Given the description of an element on the screen output the (x, y) to click on. 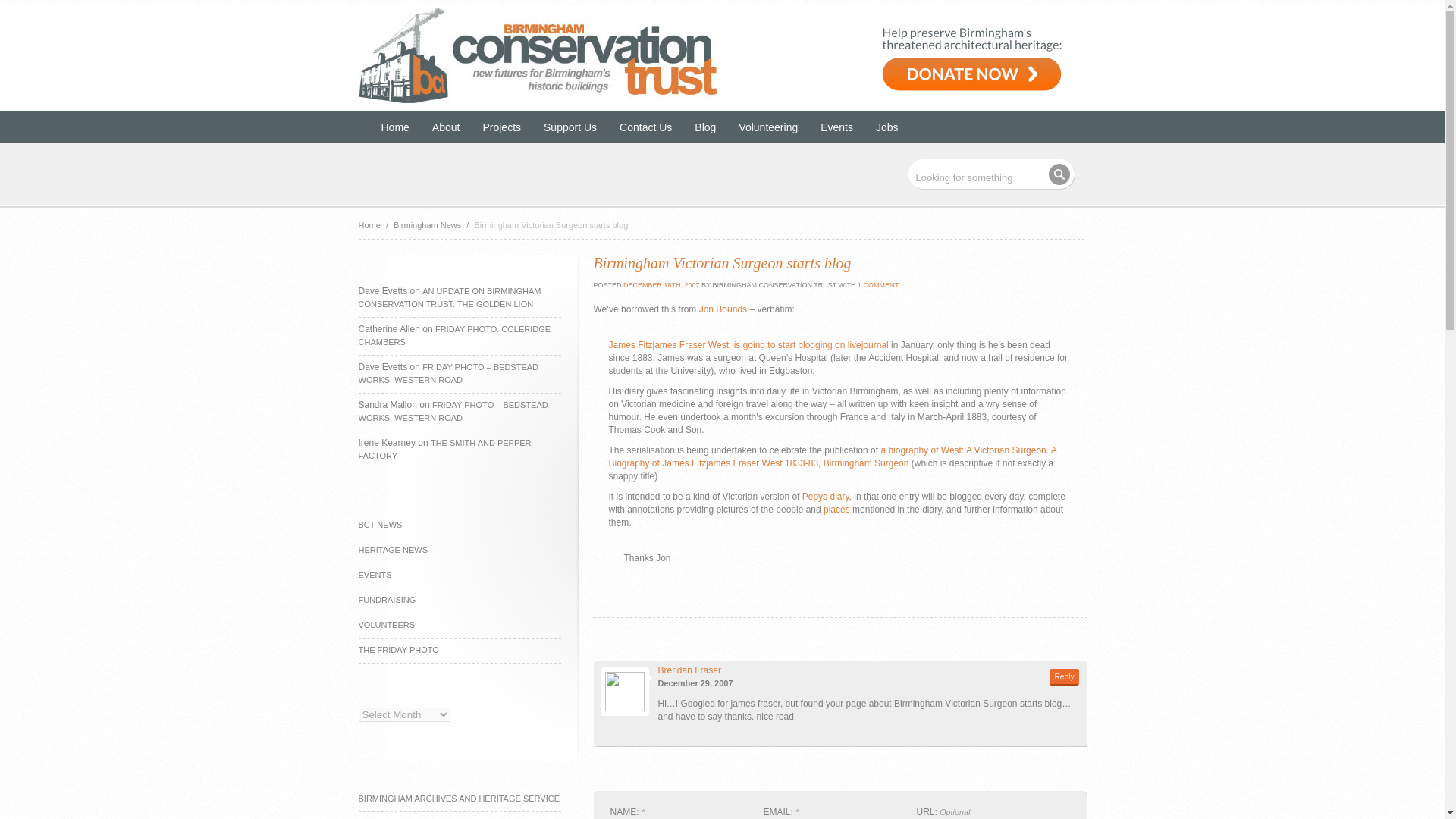
Projects (501, 131)
Blog (705, 131)
Looking for something (991, 173)
Events (837, 131)
Support Us (569, 131)
About (446, 131)
Volunteering (767, 131)
Home (394, 131)
Contact Us (645, 131)
